Given the description of an element on the screen output the (x, y) to click on. 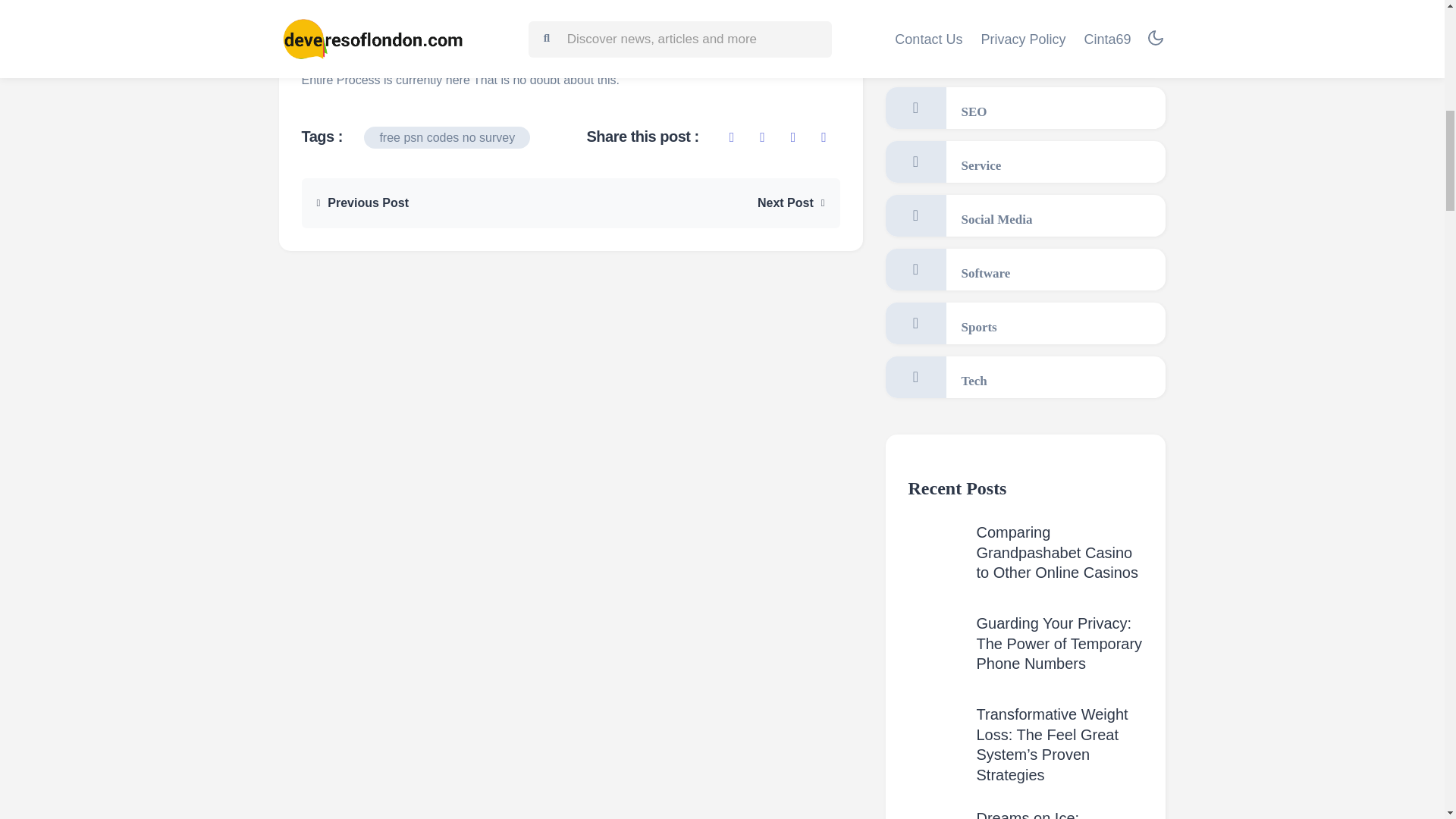
Next Post (791, 203)
Software (1025, 269)
Service (1025, 161)
Social Media (1025, 215)
Medical (1025, 10)
Previous Post (363, 203)
Dreams on Ice: Enchanting Figure Skating Dress Styles (1046, 814)
SEO (1025, 107)
Guarding Your Privacy: The Power of Temporary Phone Numbers (1059, 643)
Comparing Grandpashabet Casino to Other Online Casinos (1057, 552)
Real Estate (1025, 54)
Sports (1025, 322)
free psn codes no survey (446, 137)
Tech (1025, 377)
